Given the description of an element on the screen output the (x, y) to click on. 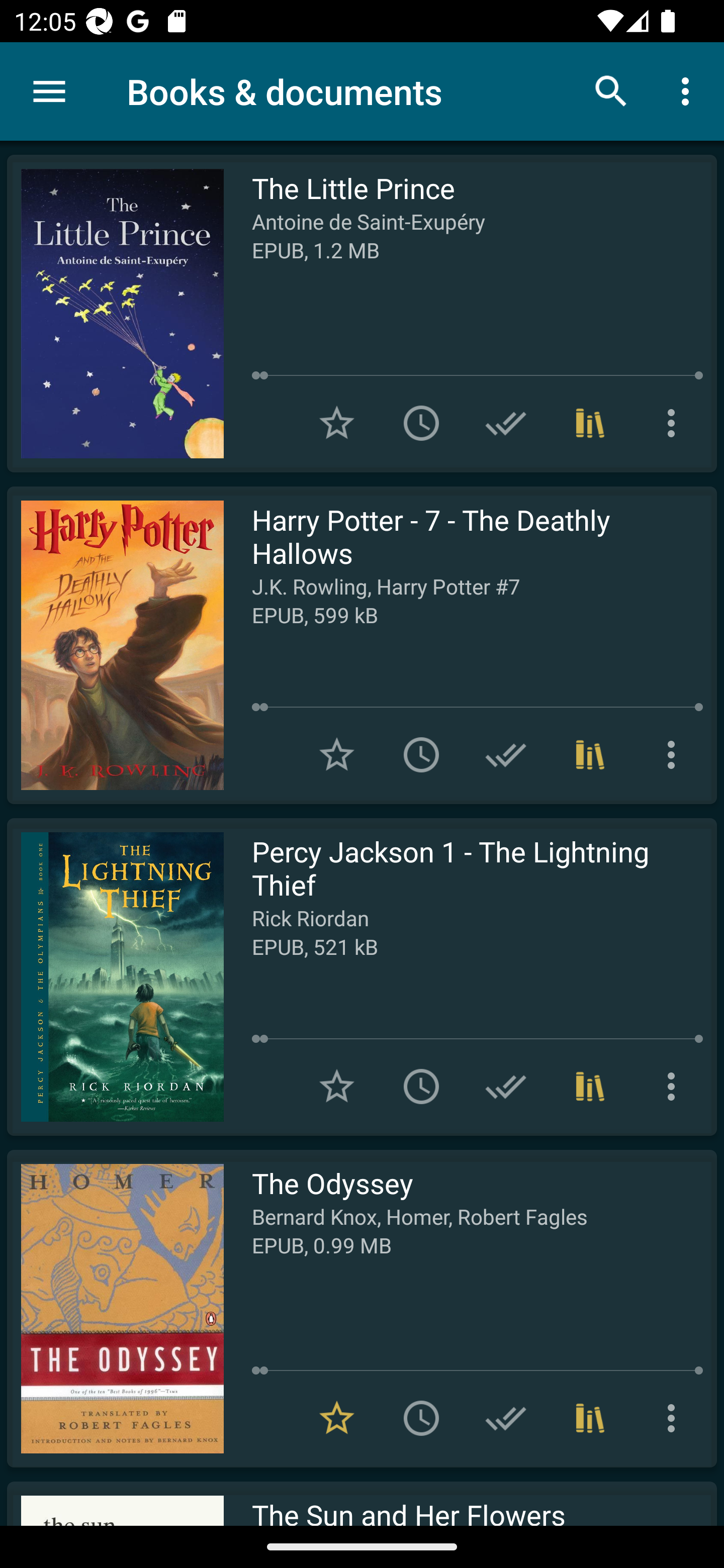
Menu (49, 91)
Search books & documents (611, 90)
More options (688, 90)
Read The Little Prince (115, 313)
Add to Favorites (336, 423)
Add to To read (421, 423)
Add to Have read (505, 423)
Collections (1) (590, 423)
More options (674, 423)
Read Harry Potter - 7 - The Deathly Hallows (115, 645)
Add to Favorites (336, 753)
Add to To read (421, 753)
Add to Have read (505, 753)
Collections (1) (590, 753)
More options (674, 753)
Read Percy Jackson 1 - The Lightning Thief (115, 976)
Add to Favorites (336, 1086)
Add to To read (421, 1086)
Add to Have read (505, 1086)
Collections (1) (590, 1086)
More options (674, 1086)
Read The Odyssey (115, 1308)
Remove from Favorites (336, 1417)
Add to To read (421, 1417)
Add to Have read (505, 1417)
Collections (2) (590, 1417)
More options (674, 1417)
